Given the description of an element on the screen output the (x, y) to click on. 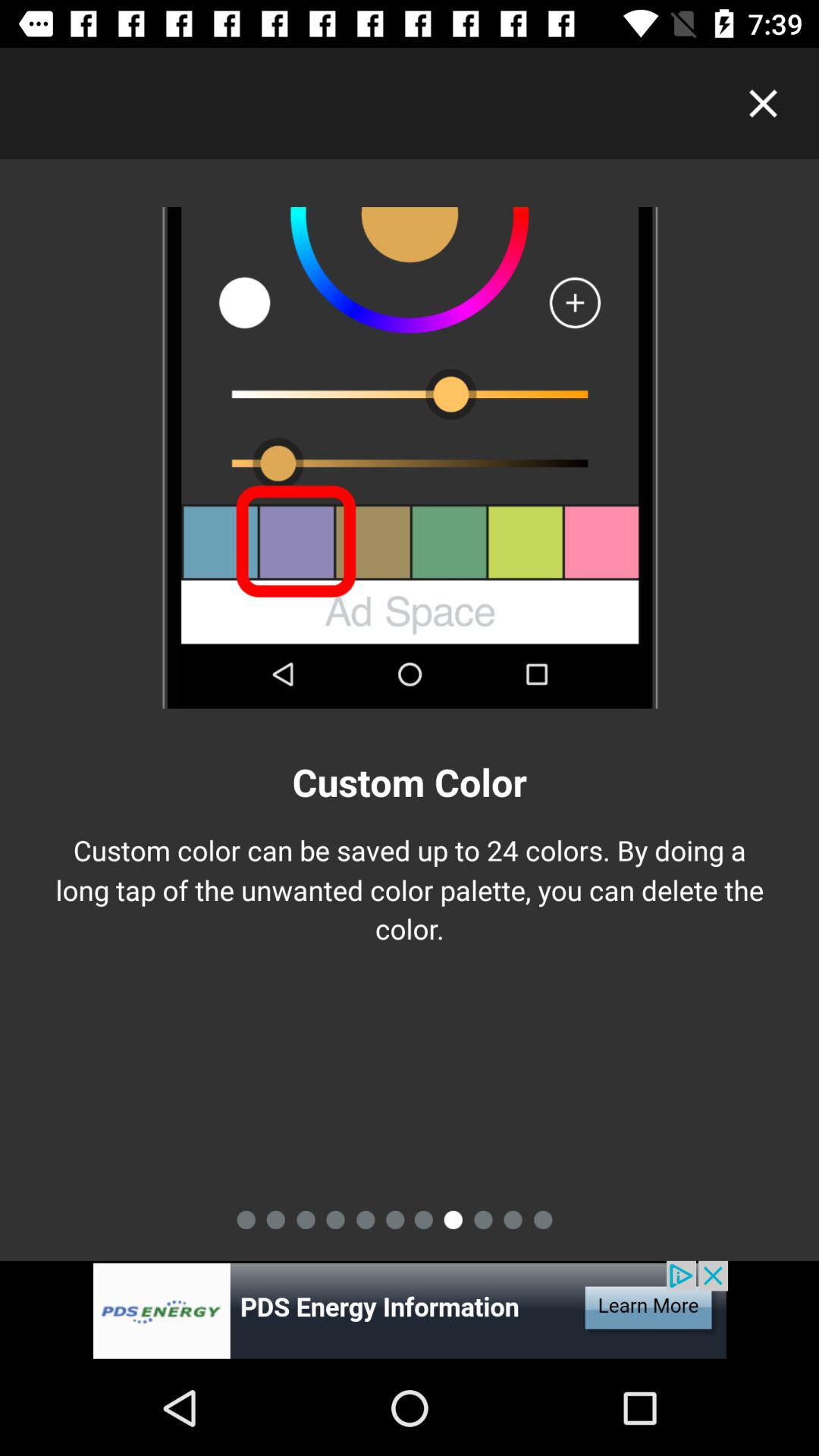
go to close (763, 103)
